Given the description of an element on the screen output the (x, y) to click on. 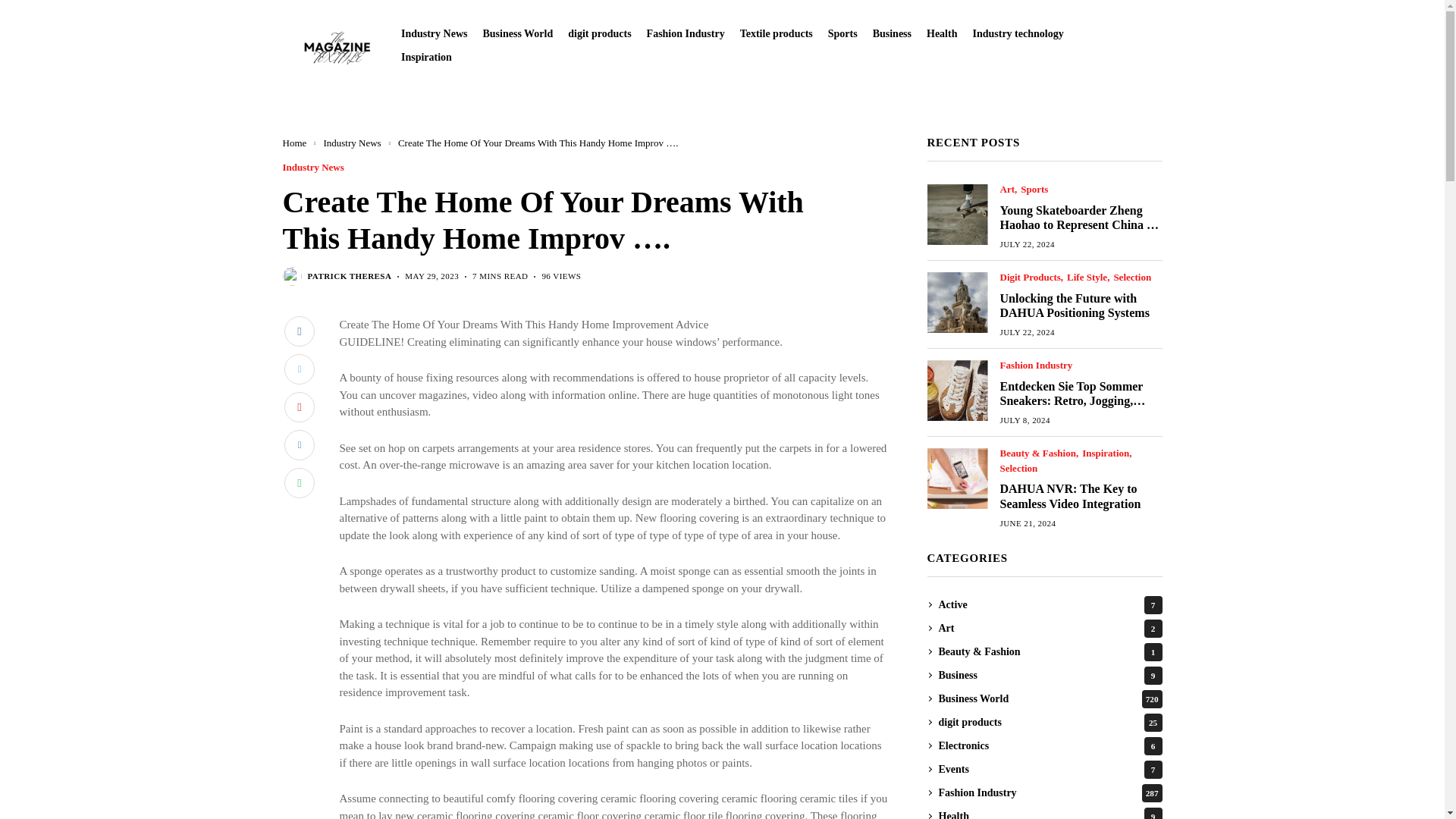
digit products (598, 33)
Posts by Patrick Theresa (349, 276)
Business World (517, 33)
Unlocking the Future with DAHUA Positioning Systems (956, 301)
Textile products (775, 33)
Industry News (434, 33)
Business (891, 33)
Inspiration (426, 57)
Industry technology (1017, 33)
Sports (842, 33)
Fashion Industry (685, 33)
Health (941, 33)
DAHUA NVR: The Key to Seamless Video Integration (956, 477)
